Given the description of an element on the screen output the (x, y) to click on. 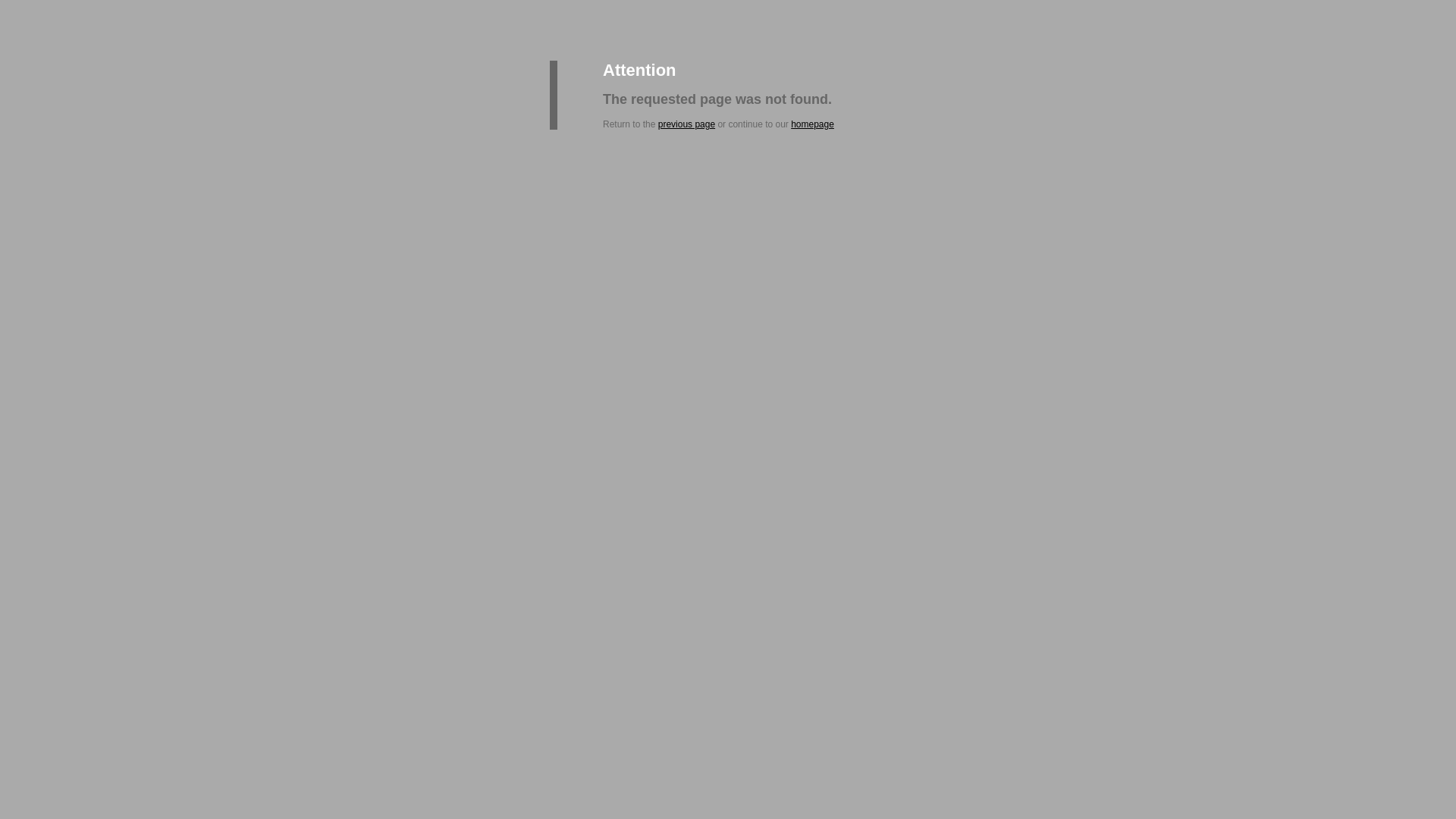
previous page Element type: text (686, 124)
homepage Element type: text (812, 124)
